Given the description of an element on the screen output the (x, y) to click on. 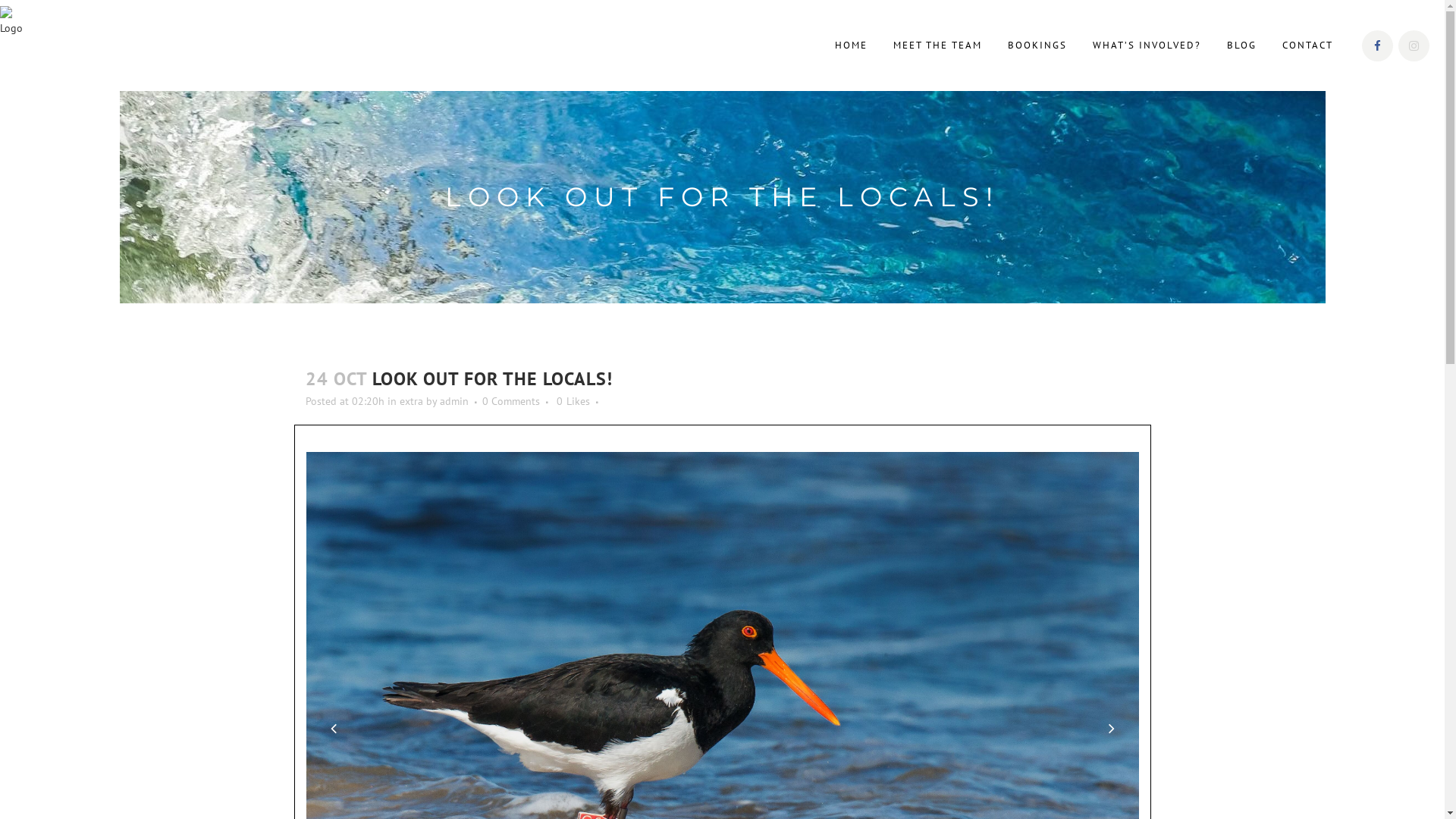
BLOG Element type: text (1241, 45)
CONTACT Element type: text (1307, 45)
admin Element type: text (453, 400)
0 Likes Element type: text (572, 400)
0 Comments Element type: text (510, 400)
extra Element type: text (410, 400)
MEET THE TEAM Element type: text (937, 45)
BOOKINGS Element type: text (1036, 45)
HOME Element type: text (851, 45)
